Given the description of an element on the screen output the (x, y) to click on. 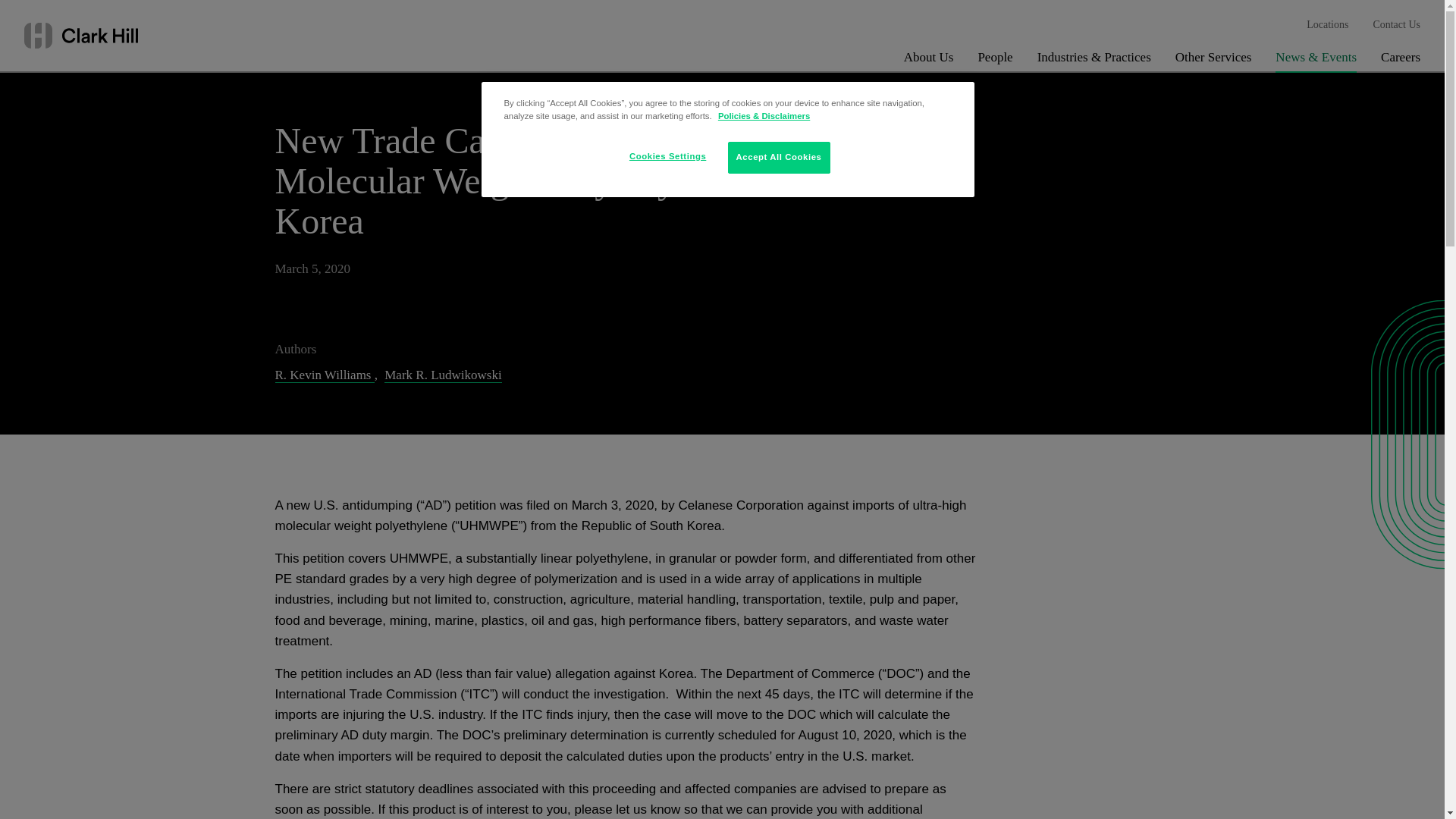
Other Services (1213, 60)
Careers (1400, 60)
People (993, 60)
About Us (928, 60)
Locations (1327, 24)
Mark R. Ludwikowski (442, 375)
Contact Us (1397, 24)
R. Kevin Williams (324, 375)
